Given the description of an element on the screen output the (x, y) to click on. 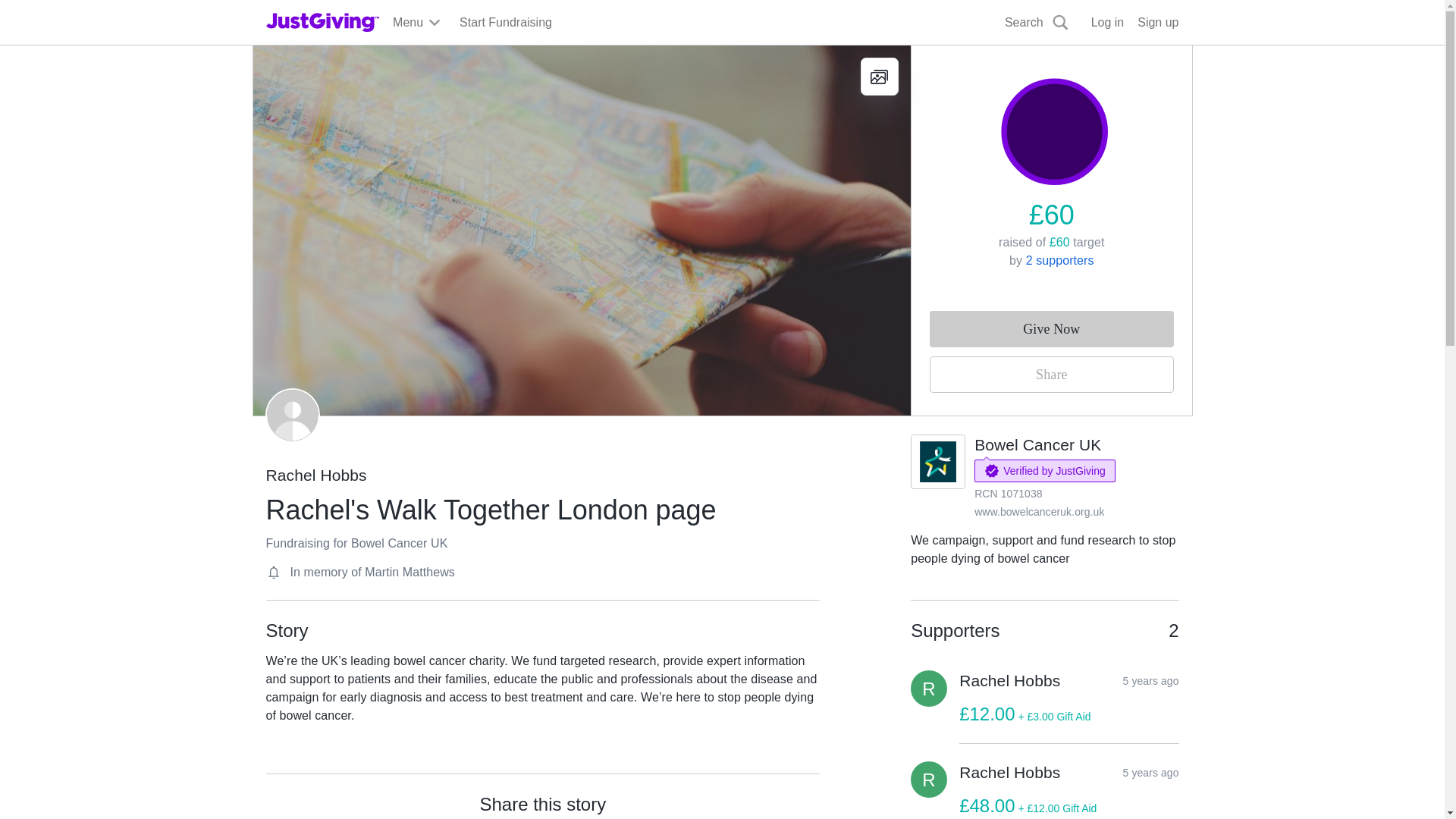
Bowel Cancer UK (1037, 444)
Search (919, 57)
Start Fundraising (505, 22)
Share (1051, 374)
Log in (1107, 22)
Search (1036, 22)
2 supporters (1060, 259)
Menu (416, 22)
Sign up (1157, 22)
www.bowelcanceruk.org.uk (1038, 511)
